Given the description of an element on the screen output the (x, y) to click on. 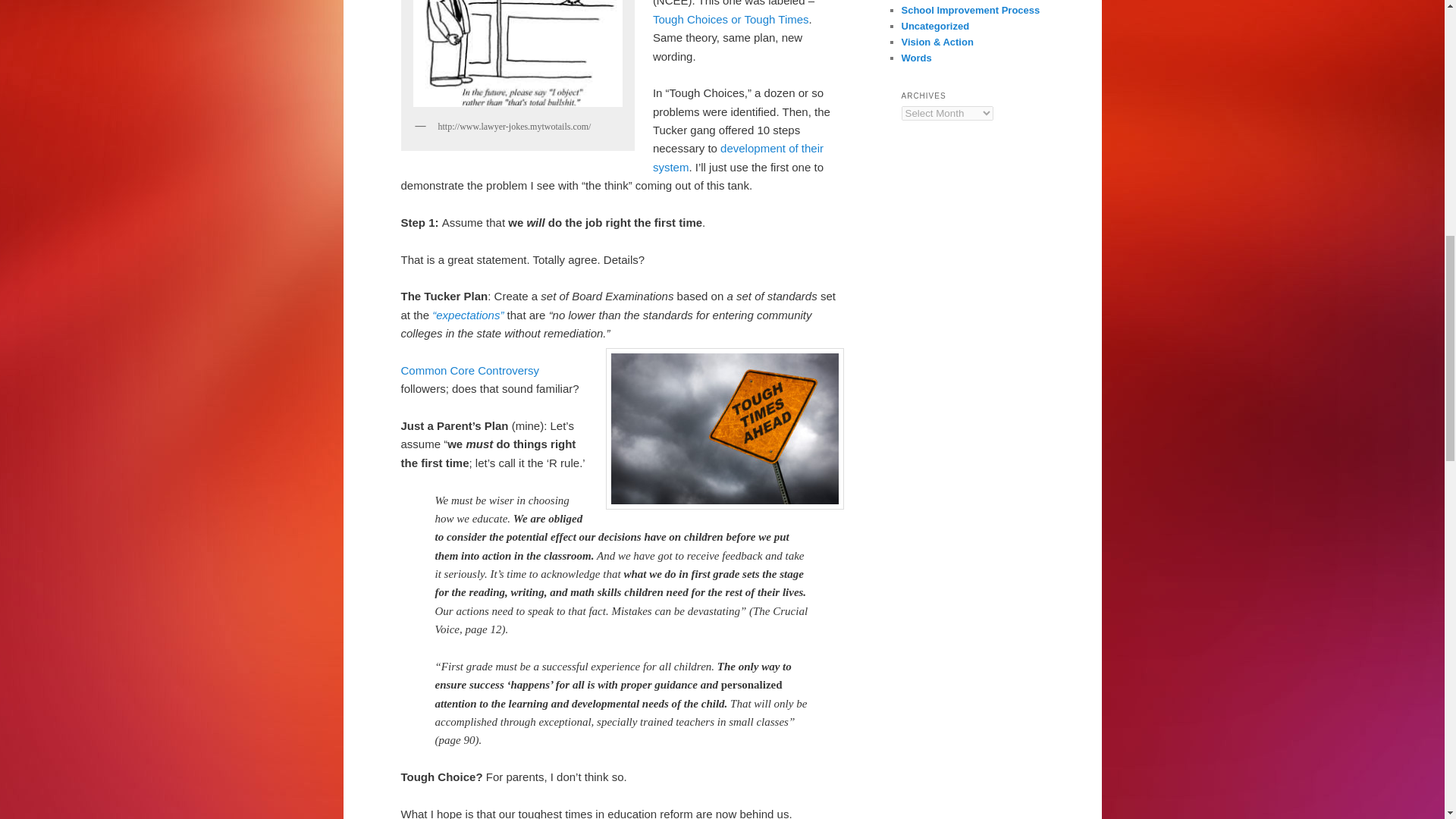
Tough Choices or Tough Times (730, 19)
Alert: Common Core Controversy (469, 369)
